Given the description of an element on the screen output the (x, y) to click on. 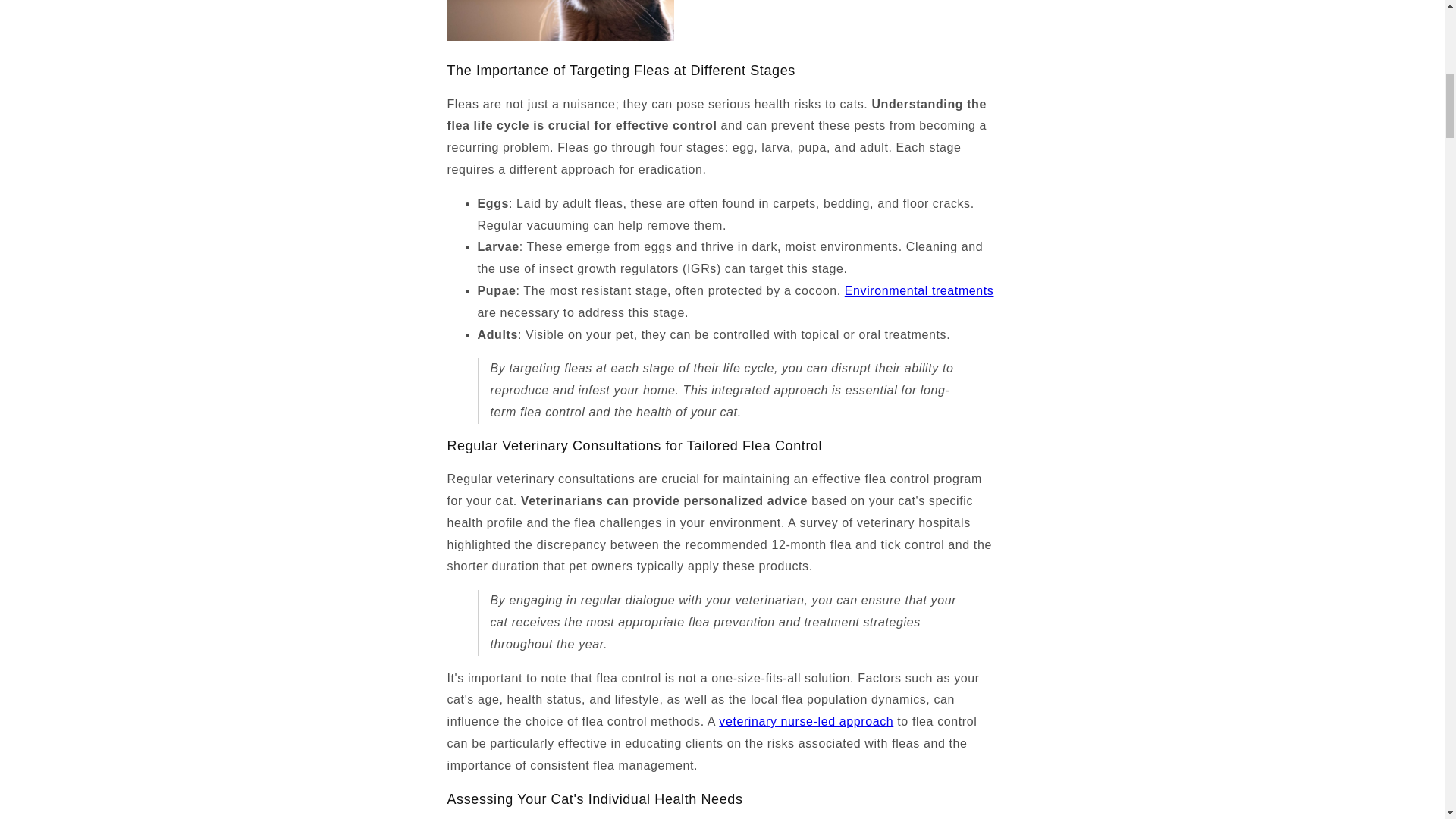
veterinary nurse-led approach (806, 721)
Environmental treatments (919, 290)
